Given the description of an element on the screen output the (x, y) to click on. 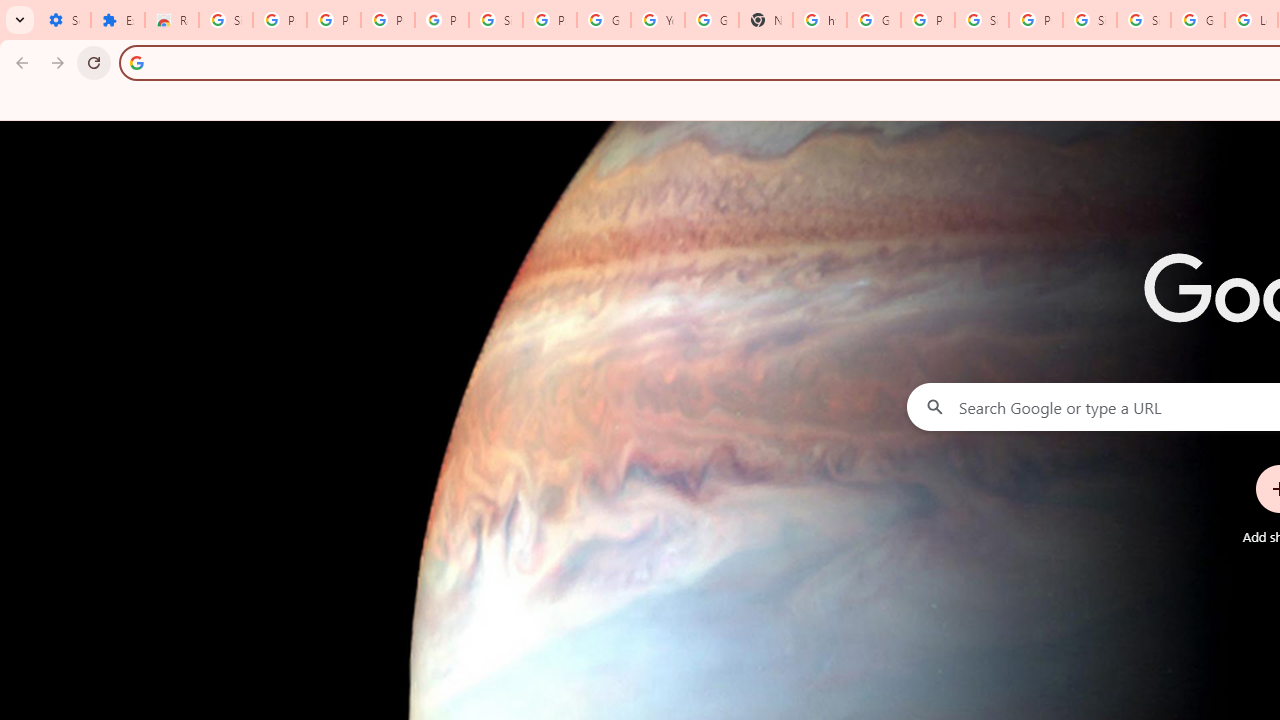
Extensions (117, 20)
Sign in - Google Accounts (495, 20)
New Tab (765, 20)
Sign in - Google Accounts (1144, 20)
Settings - On startup (63, 20)
Google Account (604, 20)
